Given the description of an element on the screen output the (x, y) to click on. 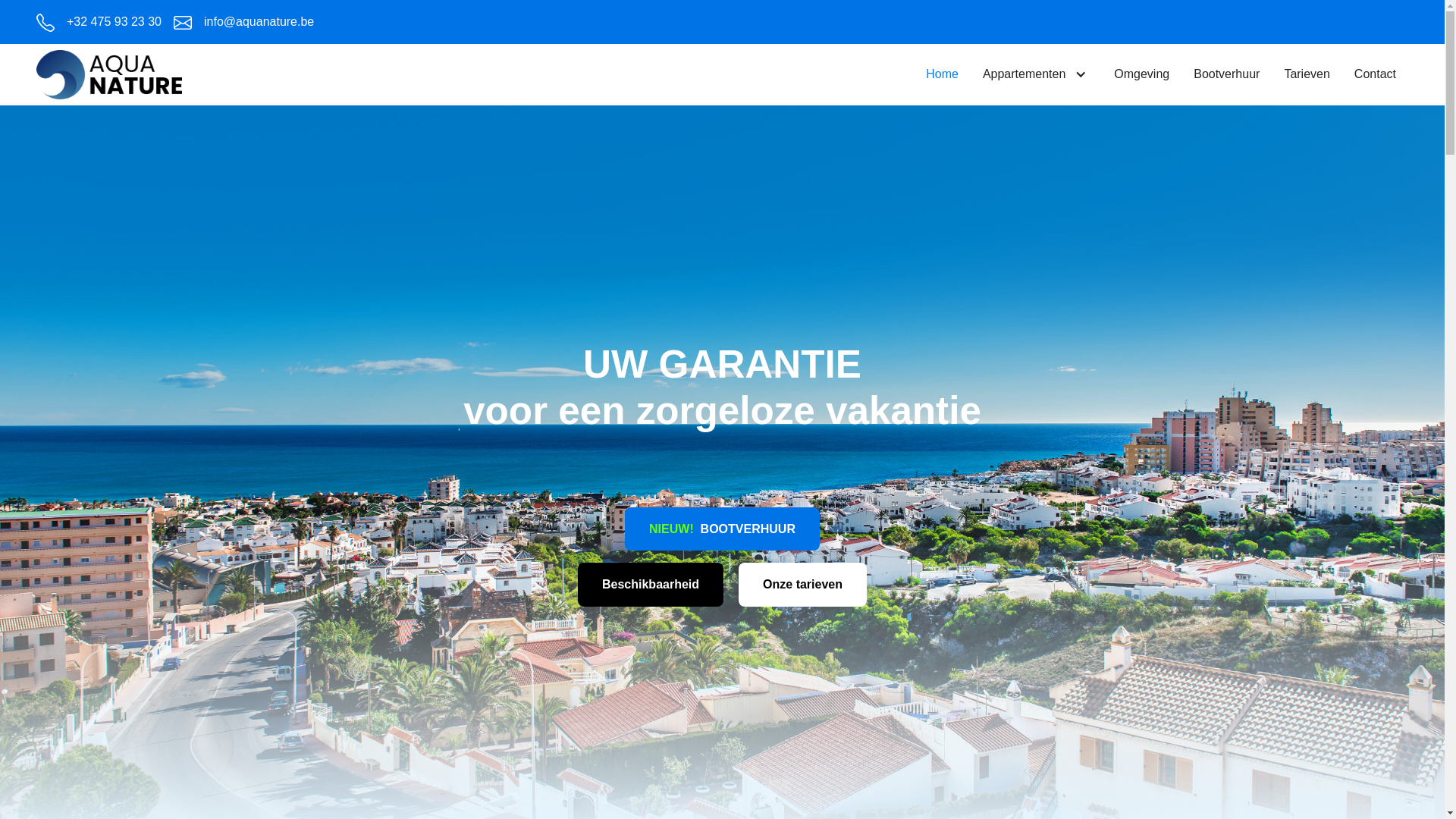
Tarieven Element type: text (1306, 74)
Bootverhuur Element type: text (1226, 74)
Beschikbaarheid Element type: text (650, 584)
Home Element type: text (941, 74)
info@aquanature.be Element type: text (243, 21)
+32 475 93 23 30 Element type: text (98, 21)
Contact Element type: text (1375, 74)
NIEUW!  BOOTVERHUUR Element type: text (721, 528)
Omgeving Element type: text (1141, 74)
Onze tarieven Element type: text (802, 584)
